Given the description of an element on the screen output the (x, y) to click on. 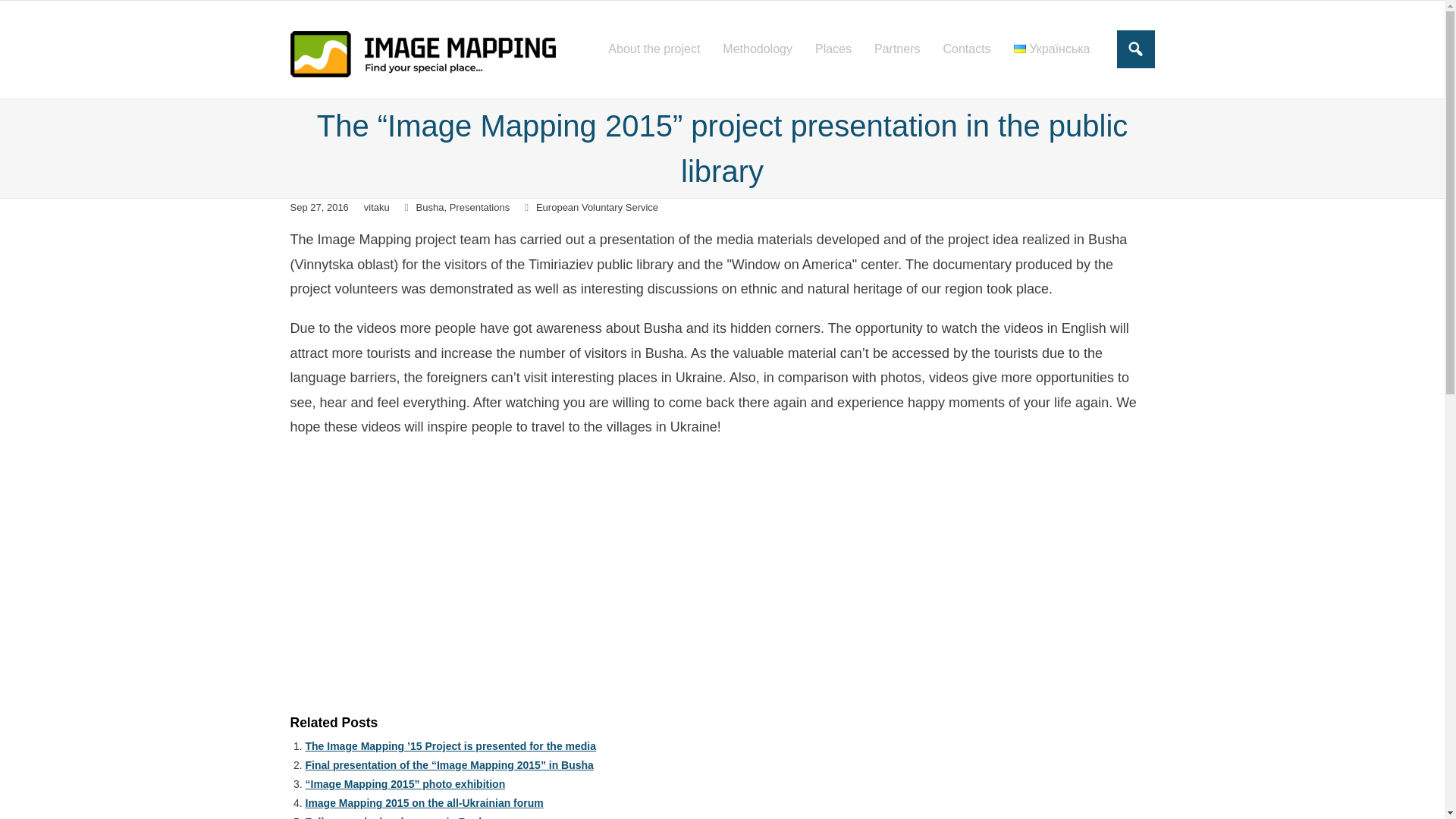
Search (27, 14)
Methodology (757, 49)
View all posts by vitaku (377, 206)
About the project (653, 49)
